Given the description of an element on the screen output the (x, y) to click on. 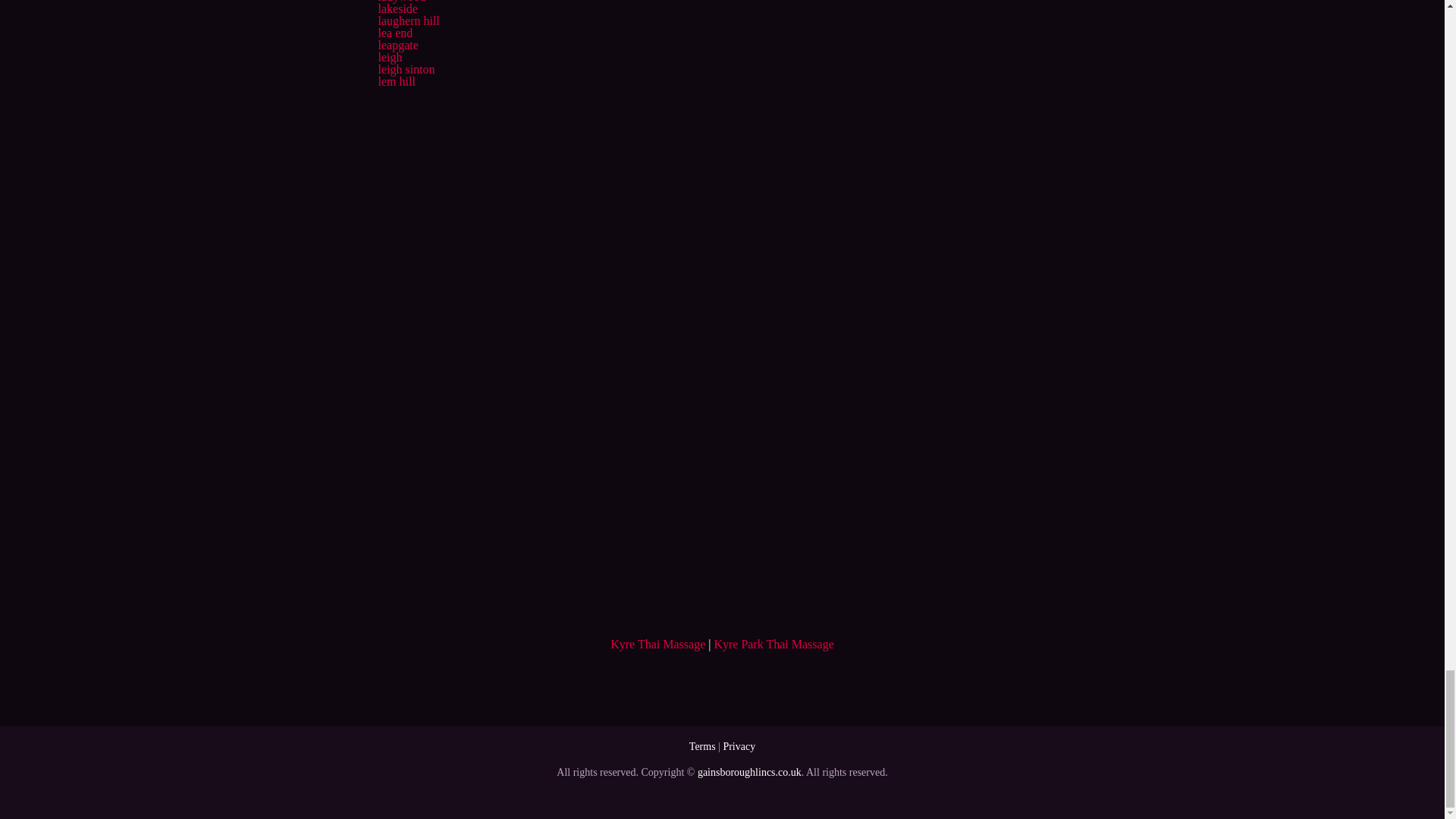
leapgate (397, 44)
Privacy (738, 746)
ladywood (401, 1)
lakeside (396, 8)
Privacy (738, 746)
laughern hill (408, 20)
lem hill (395, 81)
leigh (389, 56)
leigh sinton (405, 69)
lea end (394, 32)
gainsboroughlincs.co.uk (749, 772)
Kyre Park Thai Massage (772, 644)
Terms (702, 746)
Kyre Thai Massage (657, 644)
Terms (702, 746)
